Given the description of an element on the screen output the (x, y) to click on. 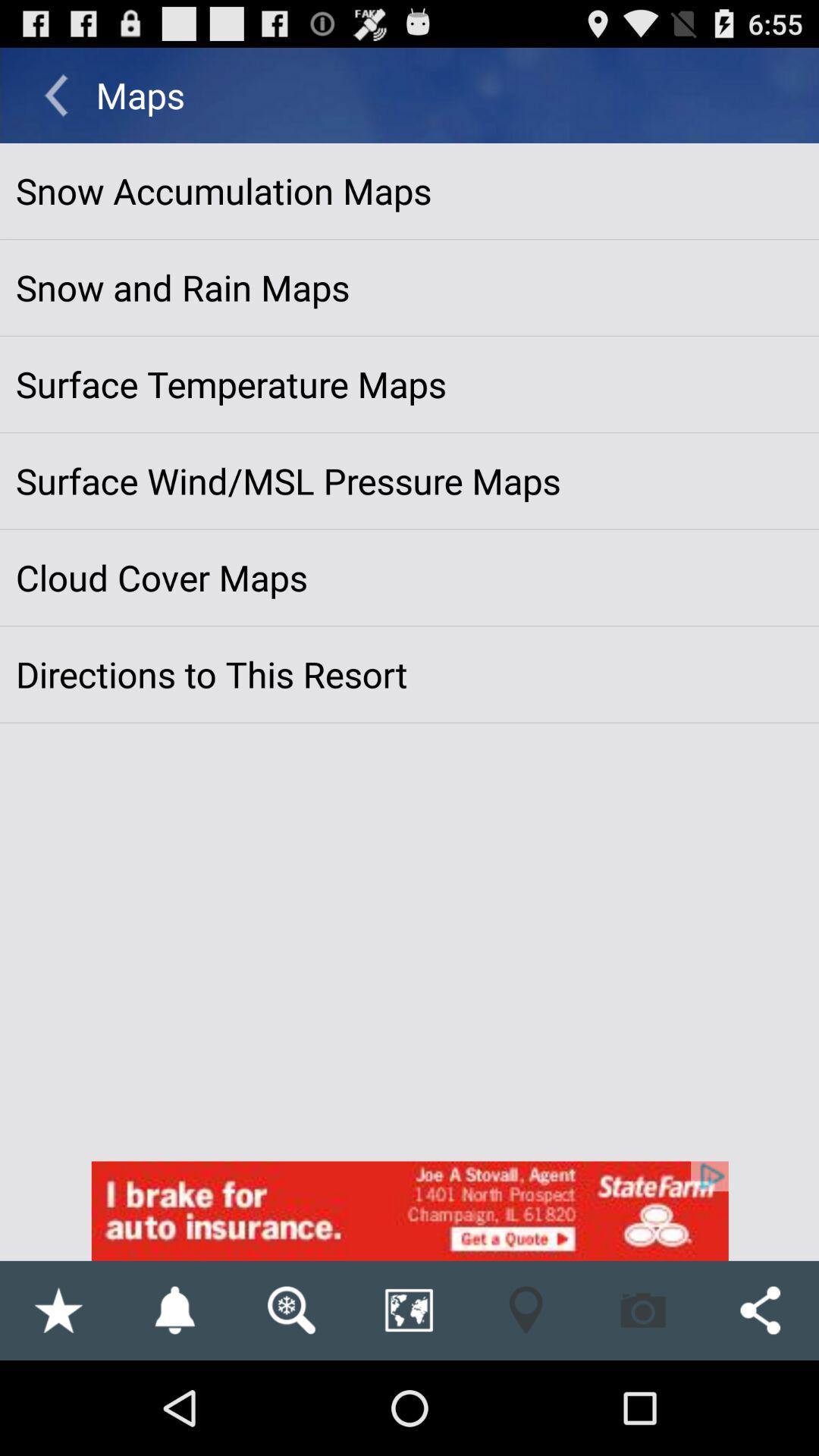
taggle to the camera (642, 1310)
